Given the description of an element on the screen output the (x, y) to click on. 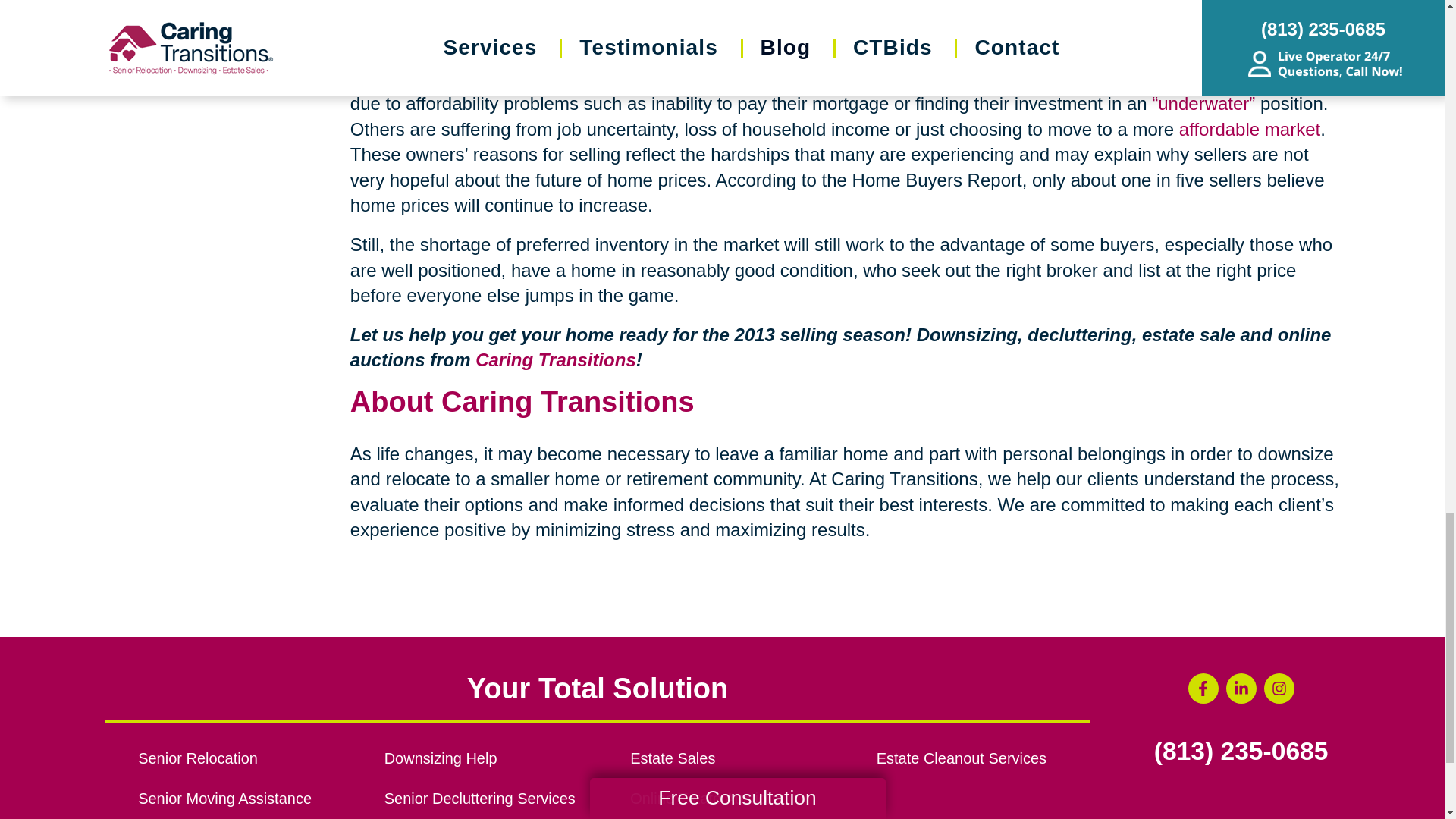
Facebook (1203, 688)
affordable market (1249, 128)
Instagram (1278, 688)
Caring Transitions (556, 359)
too cluttered (526, 38)
LinkedIn (1240, 688)
